Given the description of an element on the screen output the (x, y) to click on. 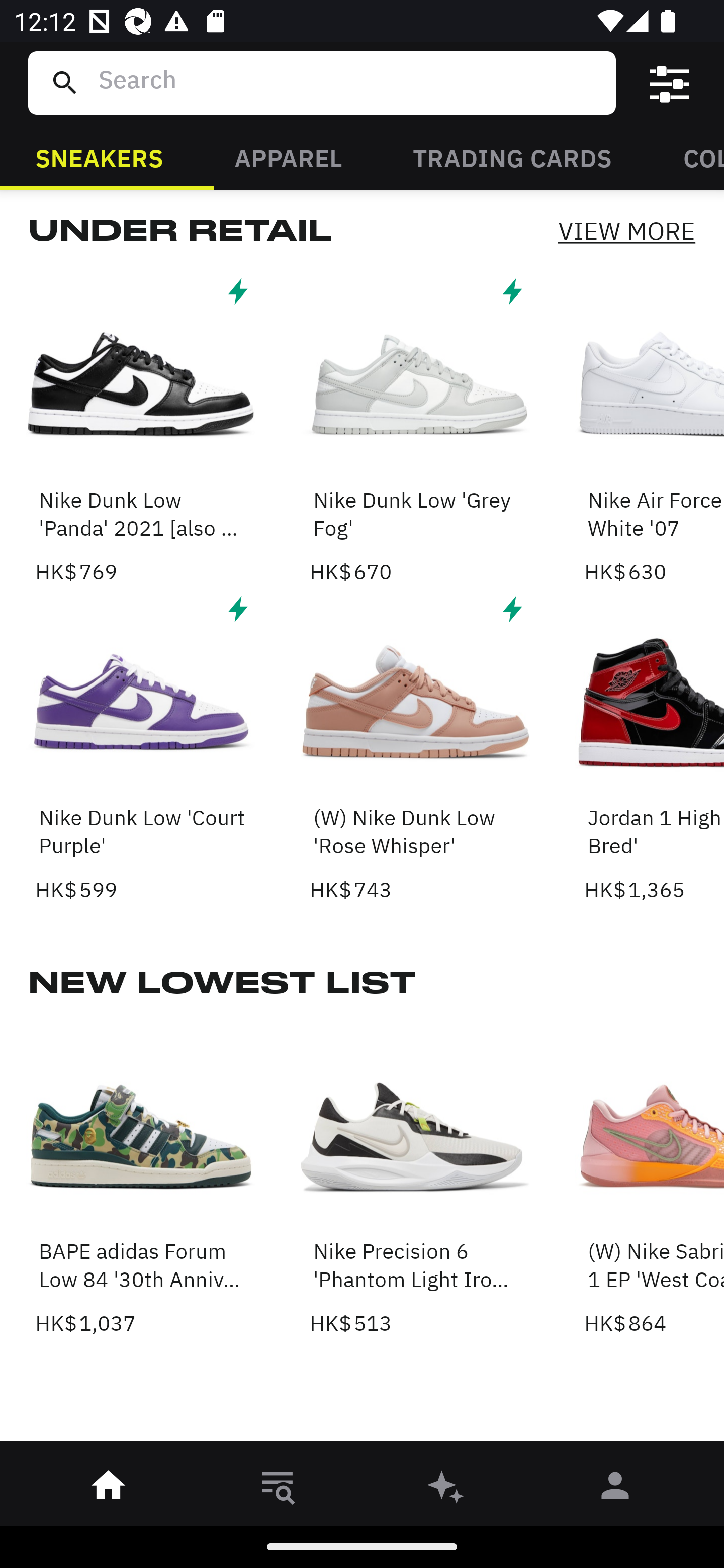
Search (349, 82)
 (669, 82)
SNEAKERS (99, 156)
APPAREL (287, 156)
TRADING CARDS (512, 156)
VIEW MORE (626, 230)
 Nike Dunk Low 'Grey Fog' HK$ 670 (414, 429)
Nike Air Force 1 Low White '07 HK$ 630 (654, 429)
 Nike Dunk Low 'Court Purple' HK$ 599 (140, 747)
 (W) Nike Dunk Low 'Rose Whisper' HK$ 743 (414, 747)
Jordan 1 High 'Patent Bred' HK$ 1,365 (654, 747)
Nike Precision 6 'Phantom Light Iron Ore' HK$ 513 (414, 1180)
(W) Nike Sabrina 1 EP 'West Coast Roots' HK$ 864 (654, 1180)
󰋜 (108, 1488)
󱎸 (277, 1488)
󰫢 (446, 1488)
󰀄 (615, 1488)
